Given the description of an element on the screen output the (x, y) to click on. 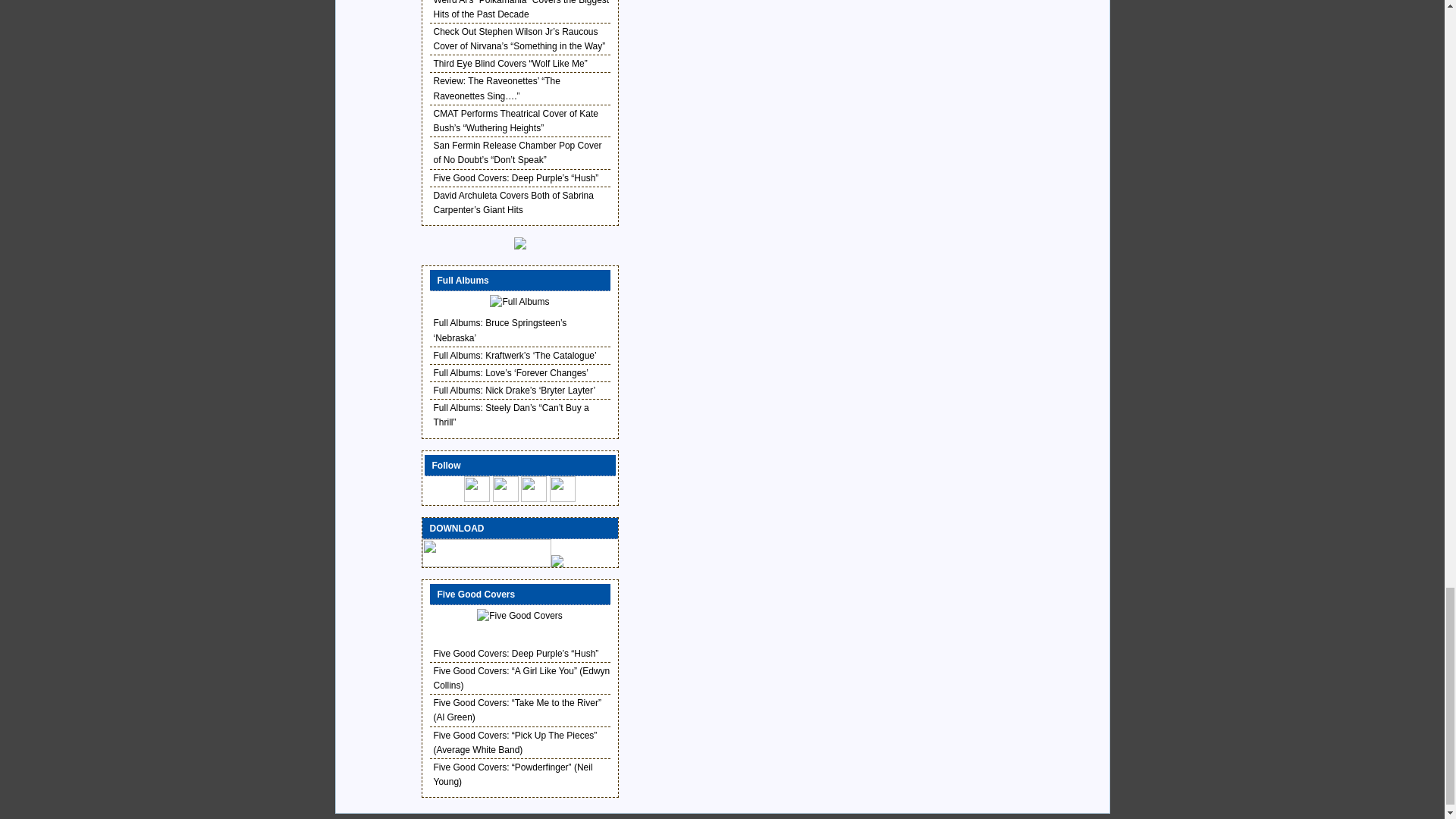
Full Albums (518, 301)
Five Good Covers (519, 616)
